Given the description of an element on the screen output the (x, y) to click on. 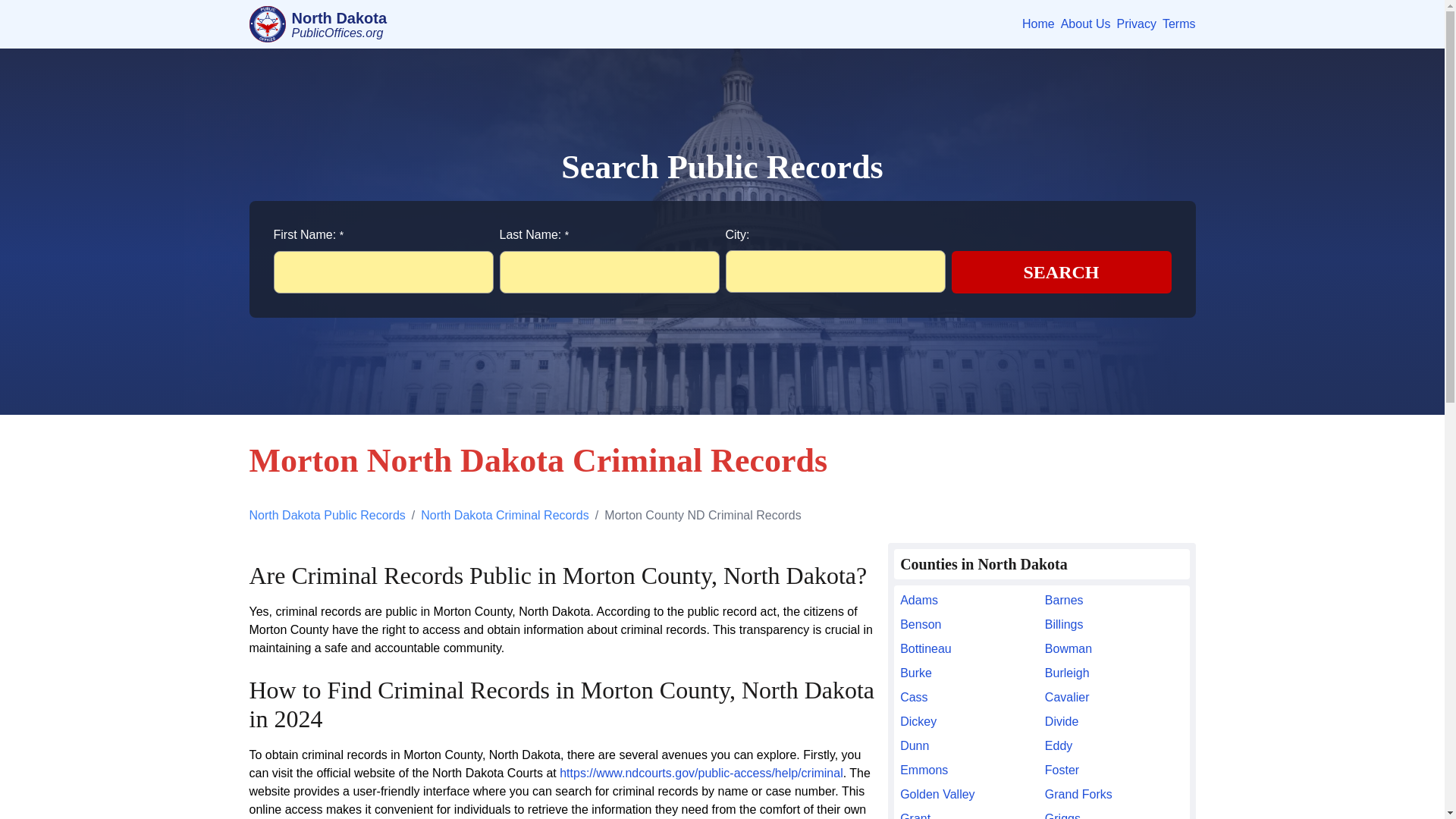
Griggs (1114, 814)
Divide (1114, 721)
Golden Valley (969, 794)
Benson (969, 624)
Cavalier (1114, 697)
Grand Forks (1114, 794)
Home (1038, 24)
Burleigh (1114, 673)
Eddy (1114, 746)
Foster (1114, 770)
